Given the description of an element on the screen output the (x, y) to click on. 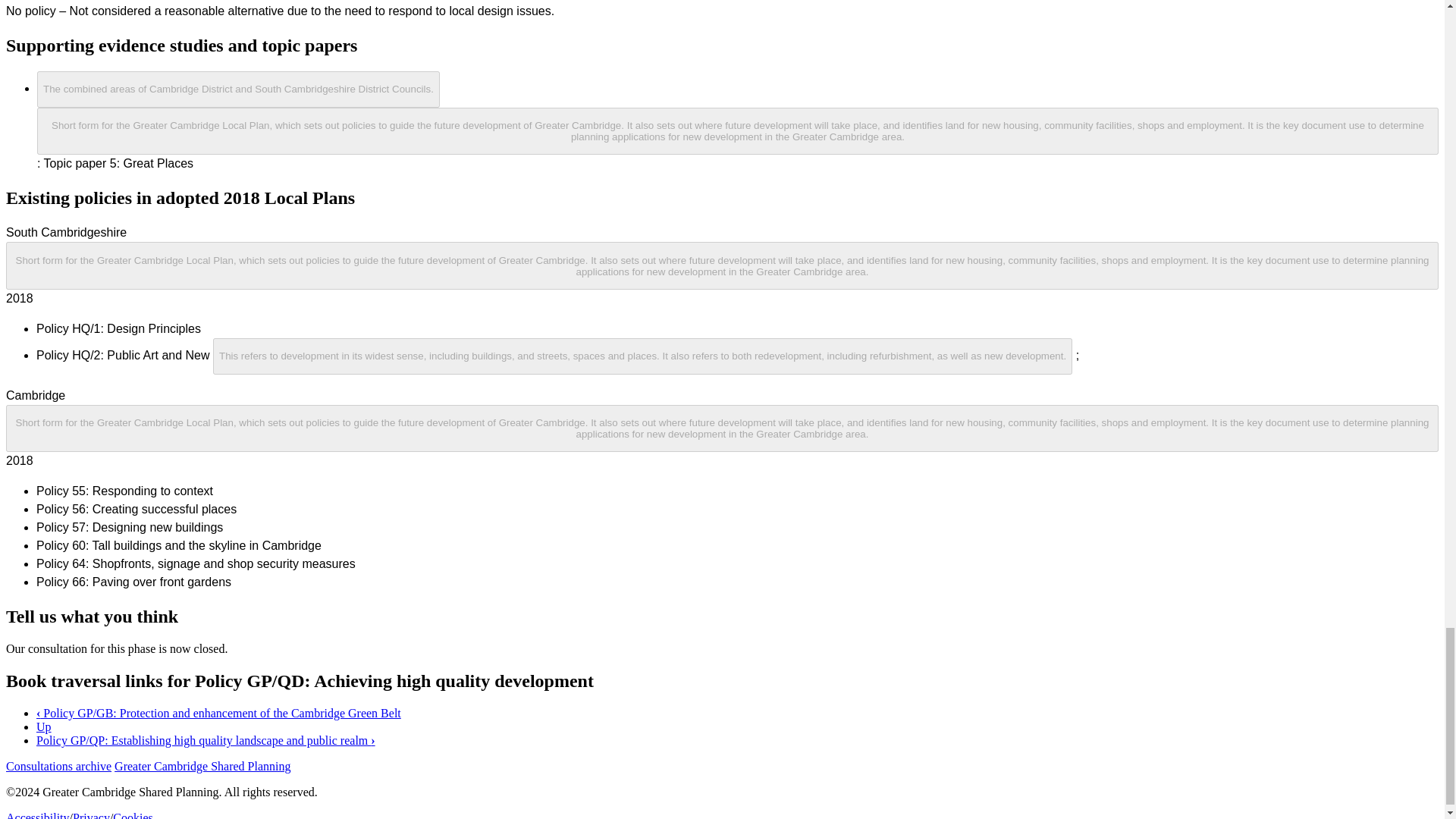
Greater Cambridge (238, 88)
Go to previous page (218, 712)
Go to next page (205, 739)
Go to parent page (43, 726)
Development (643, 354)
